Given the description of an element on the screen output the (x, y) to click on. 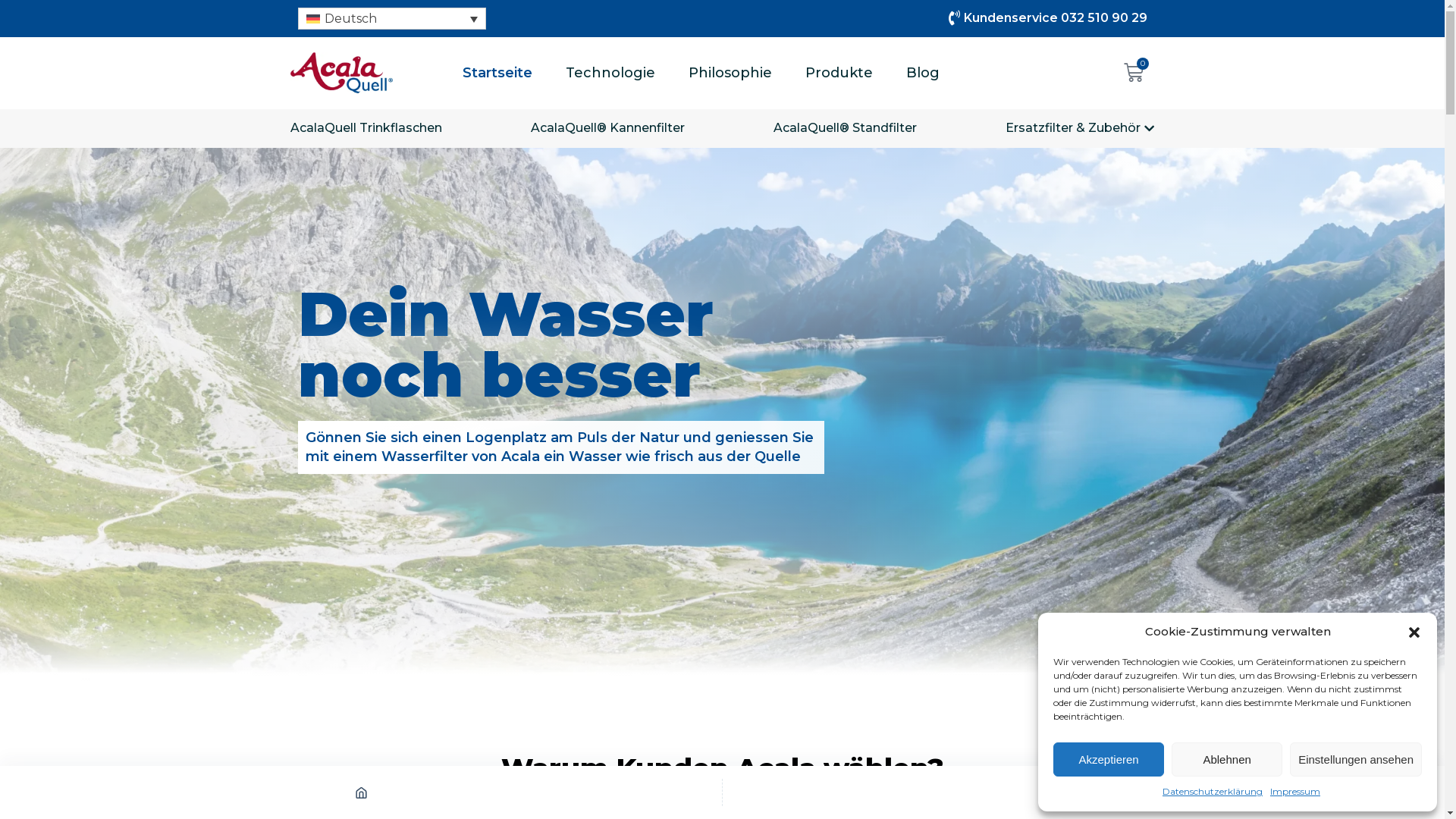
Zum Inhalt springen Element type: text (15, 7)
Impressum Element type: text (1295, 792)
Blog Element type: text (922, 72)
Ablehnen Element type: text (1226, 759)
Einstellungen ansehen Element type: text (1355, 759)
Kundenservice 032 510 90 29 Element type: text (937, 17)
Deutsch Element type: text (391, 18)
Produkte Element type: text (838, 72)
Technologie Element type: text (610, 72)
Philosophie Element type: text (729, 72)
0 Element type: text (1133, 72)
Akzeptieren Element type: text (1108, 759)
Startseite Element type: text (497, 72)
AcalaQuell Trinkflaschen Element type: text (365, 128)
